Given the description of an element on the screen output the (x, y) to click on. 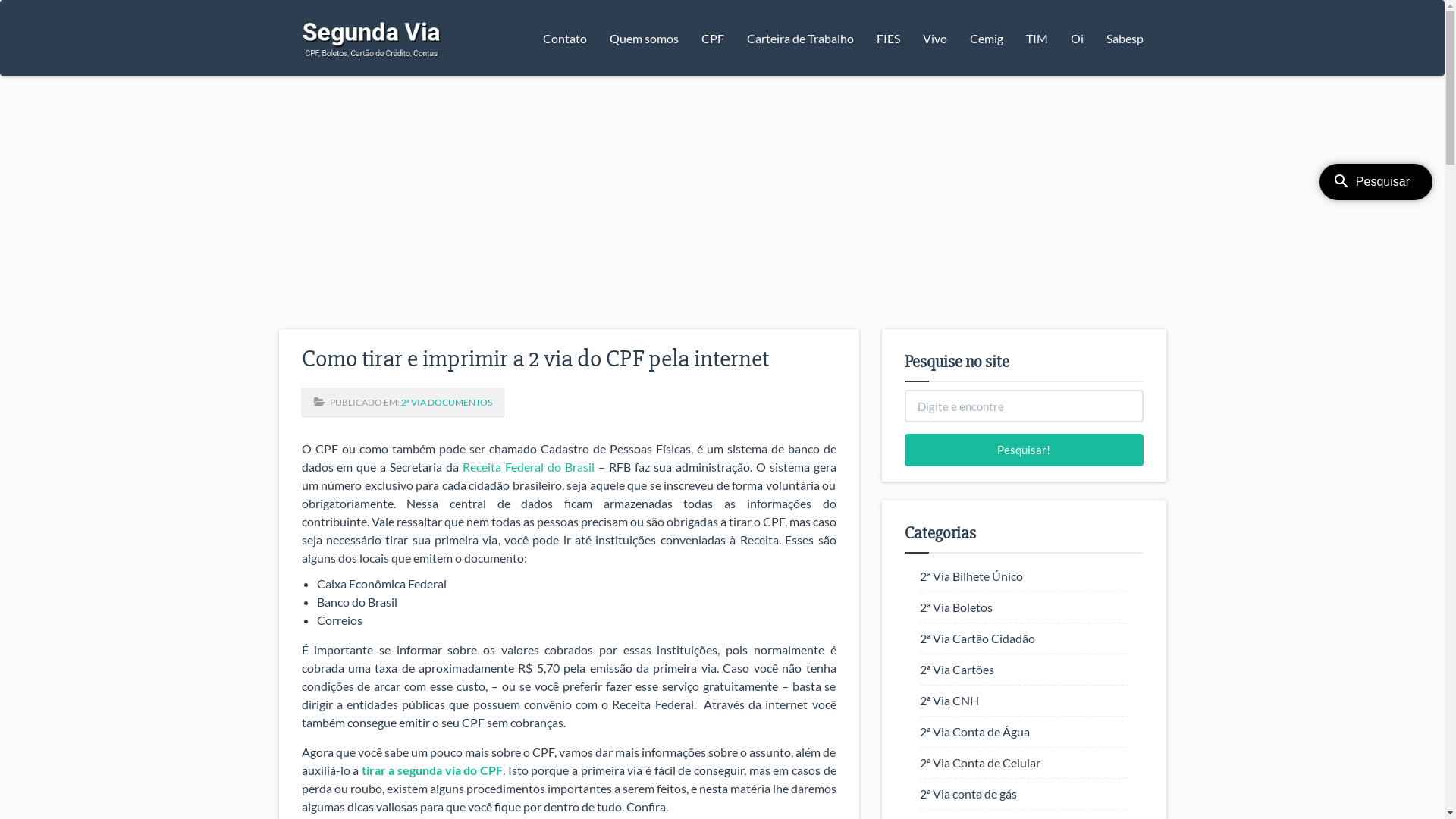
tirar a segunda via do CPF Element type: text (431, 769)
Pesquisar! Element type: text (1022, 449)
Vivo Element type: text (934, 37)
TIM Element type: text (1036, 37)
Carteira de Trabalho Element type: text (800, 37)
Receita Federal do Brasil Element type: text (528, 466)
CPF Element type: text (712, 37)
Oi Element type: text (1076, 37)
Advertisement Element type: hover (721, 204)
Sabesp Element type: text (1124, 37)
Quem somos Element type: text (643, 37)
FIES Element type: text (887, 37)
Contato Element type: text (563, 37)
Cemig Element type: text (986, 37)
